Given the description of an element on the screen output the (x, y) to click on. 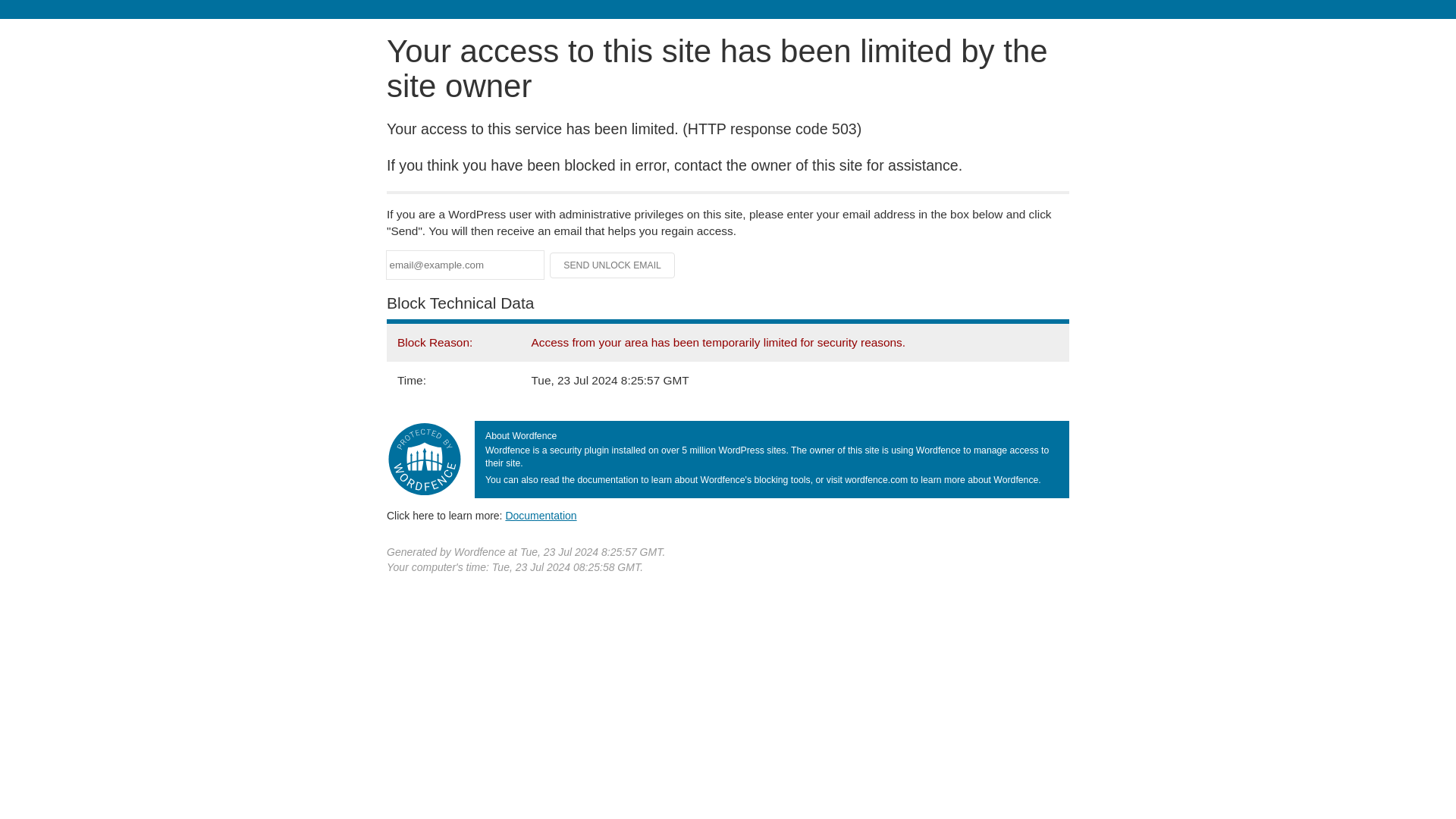
Send Unlock Email (612, 265)
Send Unlock Email (612, 265)
Documentation (540, 515)
